Given the description of an element on the screen output the (x, y) to click on. 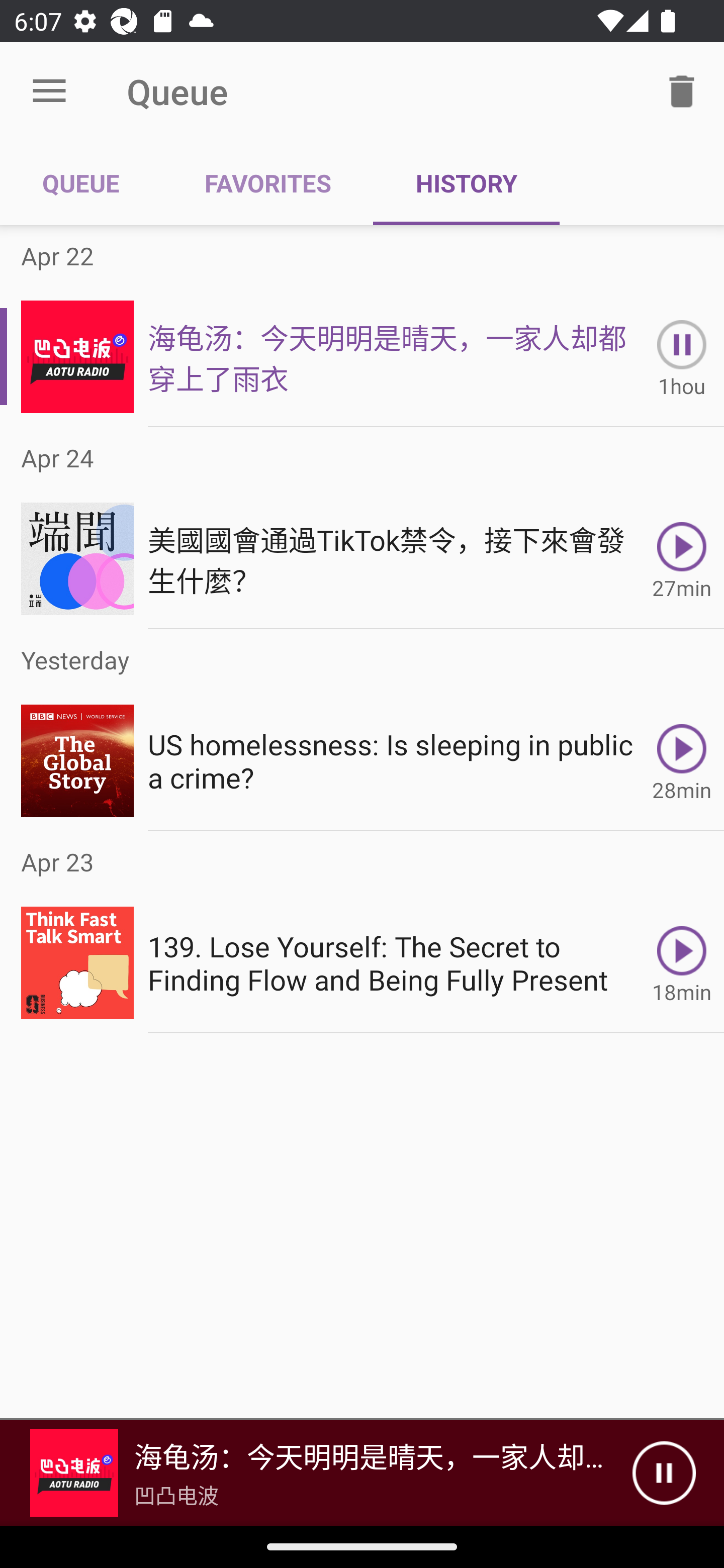
Open menu (49, 91)
Clear History (681, 90)
QUEUE (81, 183)
FAVORITES (267, 183)
HISTORY (465, 183)
Apr 22 海龟汤：今天明明是晴天，一家人却都穿上了雨衣 Play 1hou (362, 325)
Play 1hou (681, 356)
Apr 24 美國國會通過TikTok禁令，接下來會發生什麼？ Play 27min (362, 527)
Play 27min (681, 558)
Play 28min (681, 760)
Play 18min (681, 962)
Picture 海龟汤：今天明明是晴天，一家人却都穿上了雨衣 凹凸电波 (316, 1472)
Pause (663, 1472)
